Given the description of an element on the screen output the (x, y) to click on. 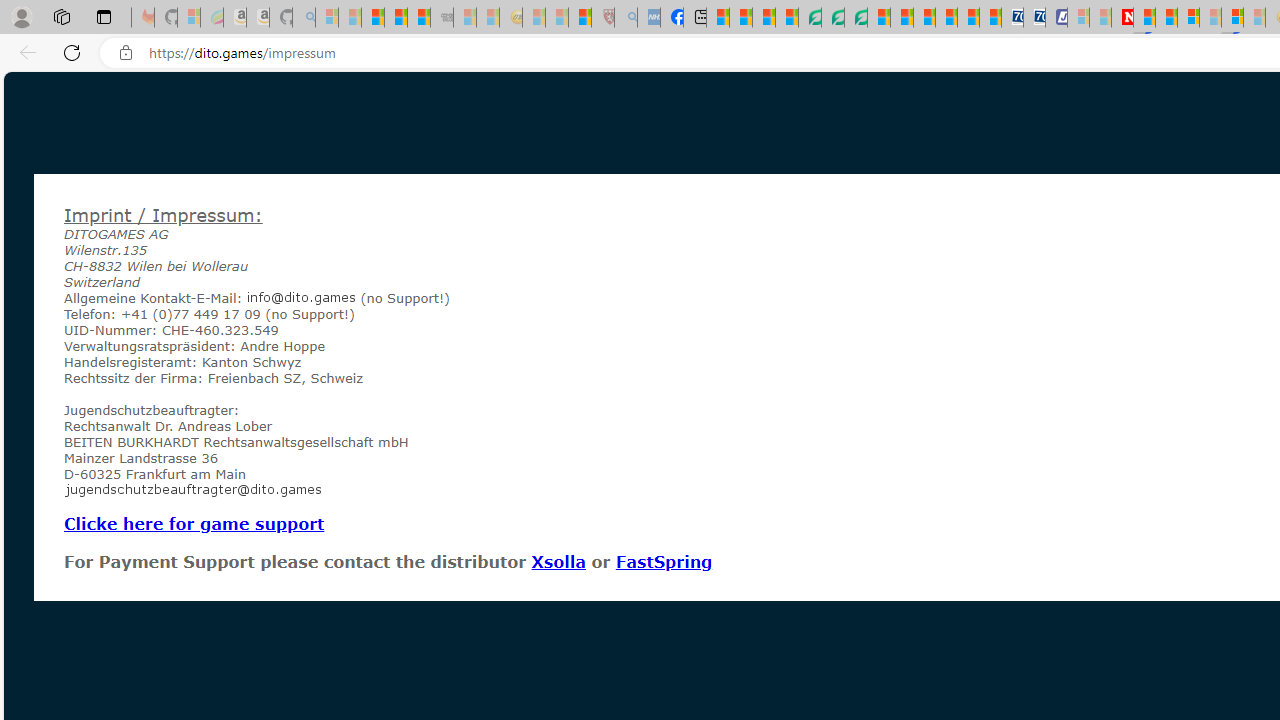
Clicke here for game support (194, 523)
Cheap Car Rentals - Save70.com (1012, 17)
